Given the description of an element on the screen output the (x, y) to click on. 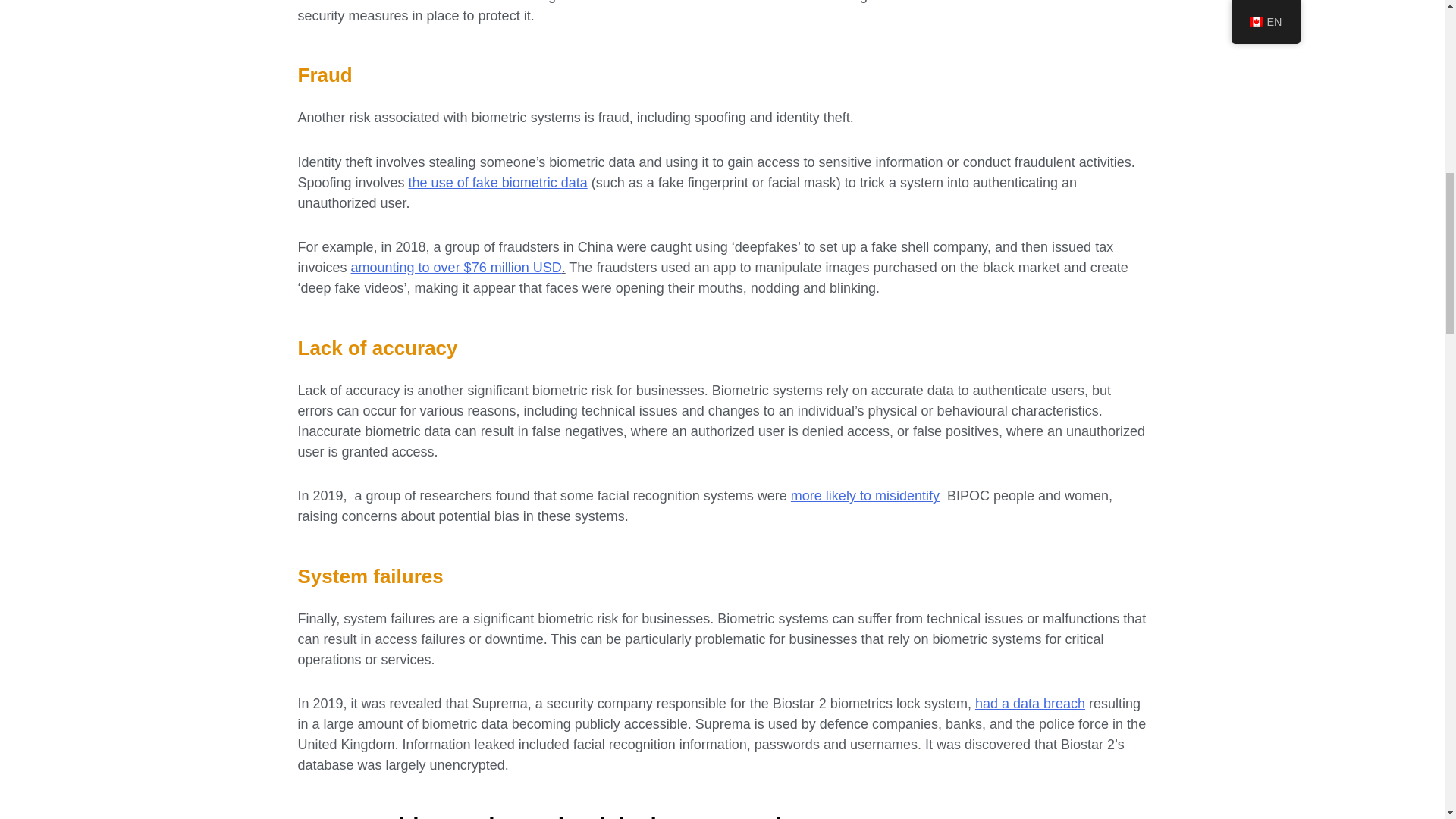
the use of fake biometric data (498, 182)
more likely to misidentify (866, 495)
had a data breach (1029, 703)
